Given the description of an element on the screen output the (x, y) to click on. 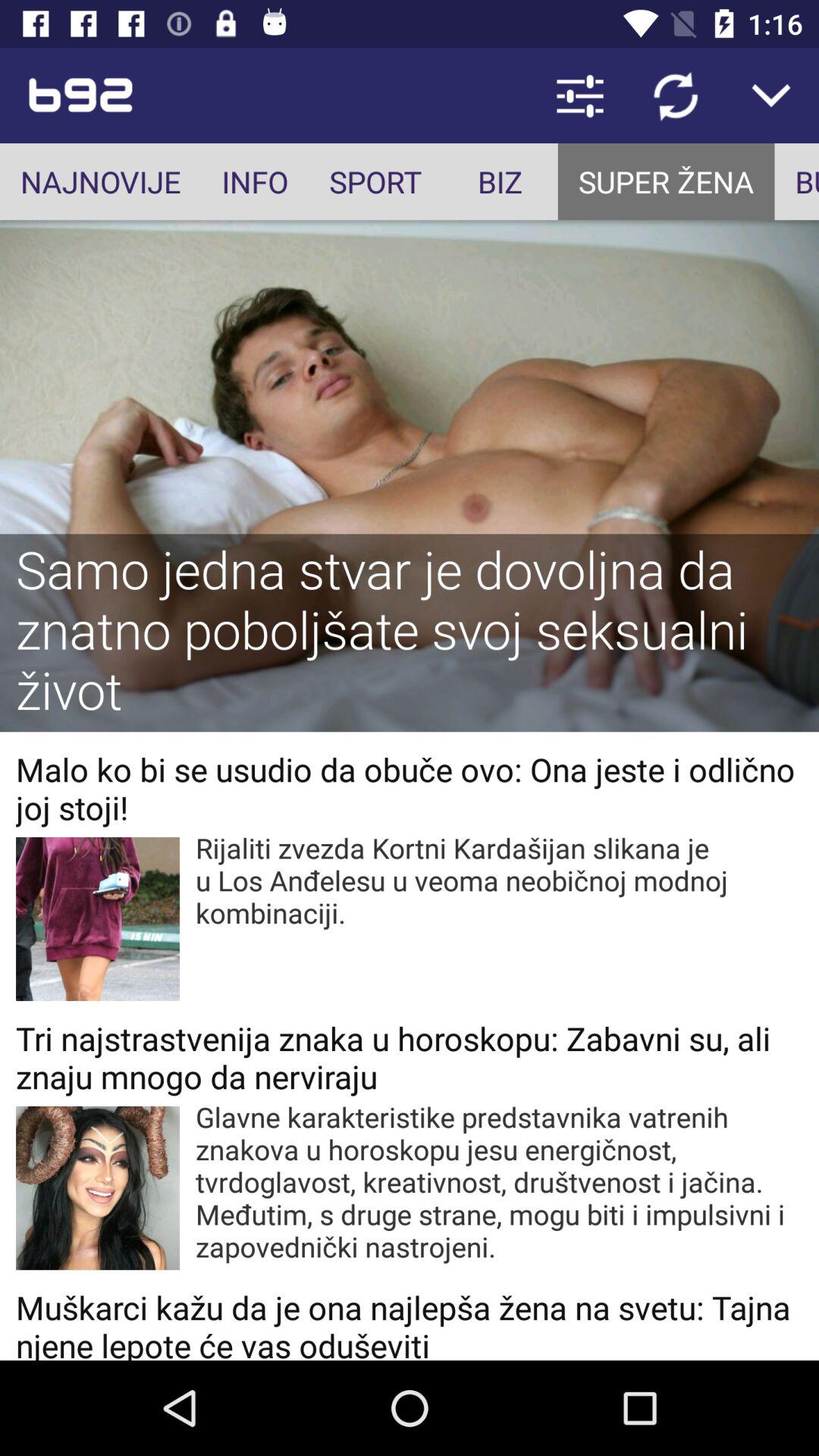
turn off icon above the glavne karakteristike predstavnika item (409, 1057)
